Given the description of an element on the screen output the (x, y) to click on. 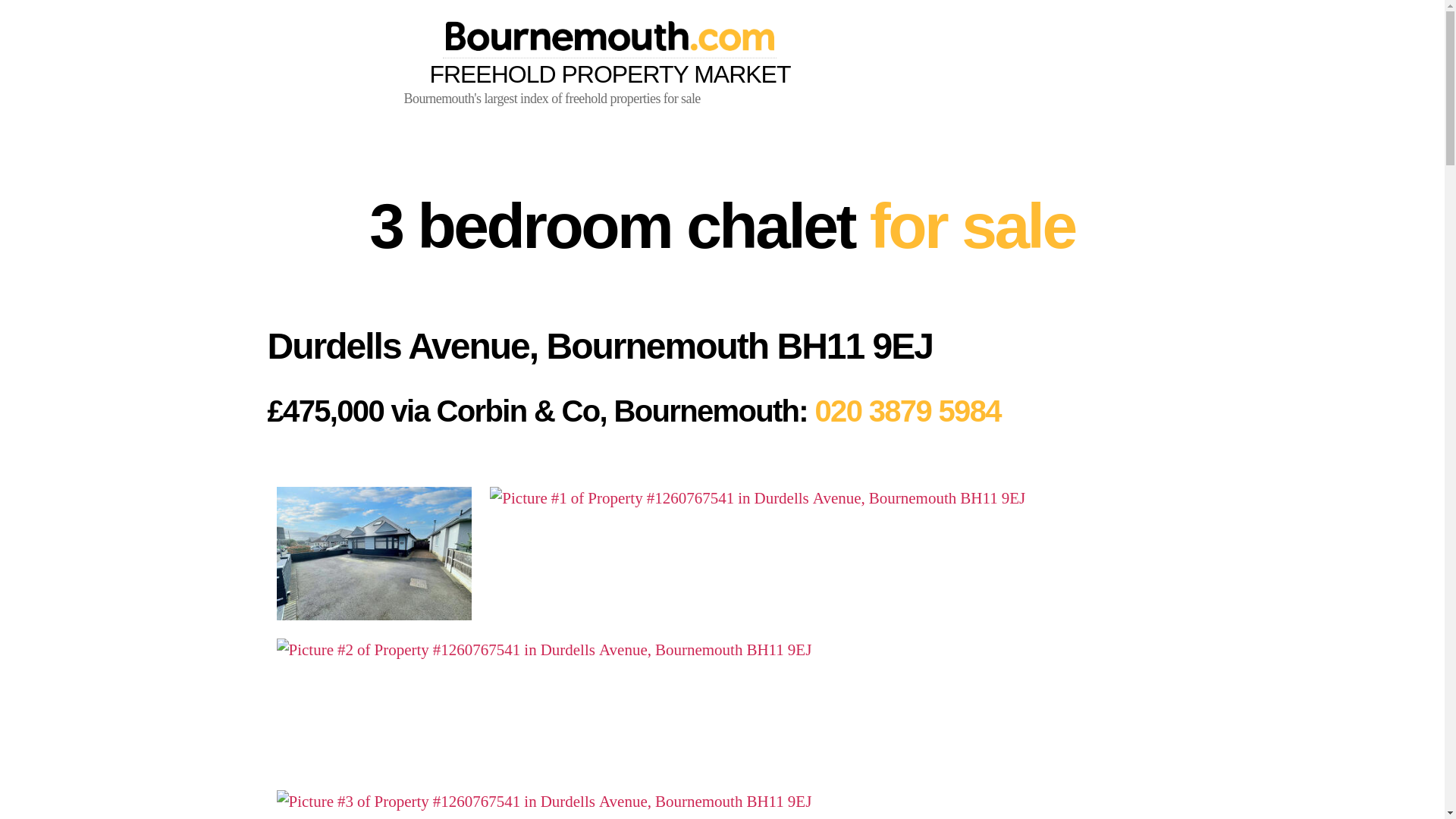
FREEHOLD PROPERTY MARKET (609, 53)
